Given the description of an element on the screen output the (x, y) to click on. 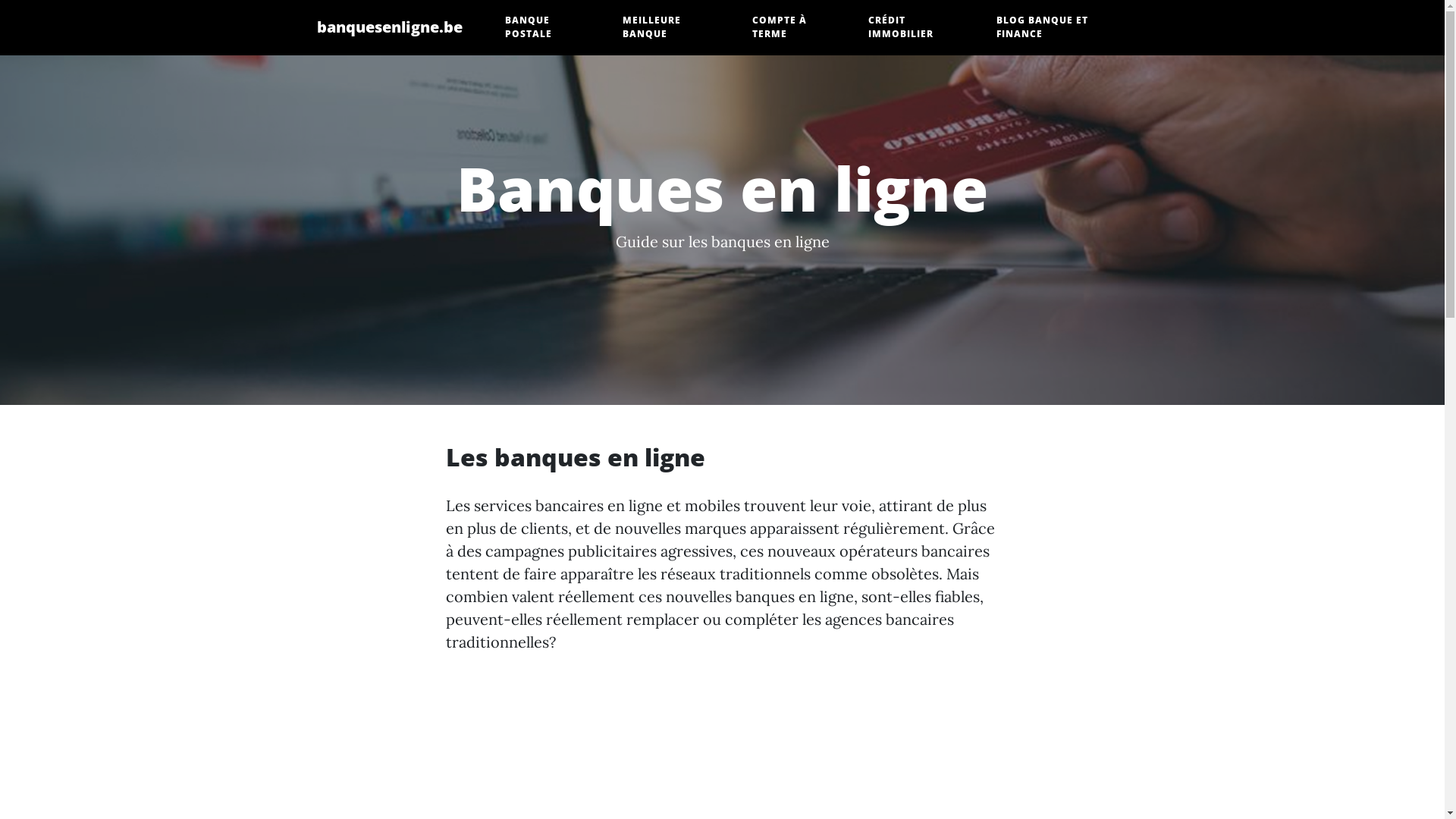
BLOG BANQUE ET FINANCE Element type: text (1062, 27)
banquesenligne.be Element type: text (389, 27)
BANQUE POSTALE Element type: text (548, 27)
MEILLEURE BANQUE Element type: text (671, 27)
